Given the description of an element on the screen output the (x, y) to click on. 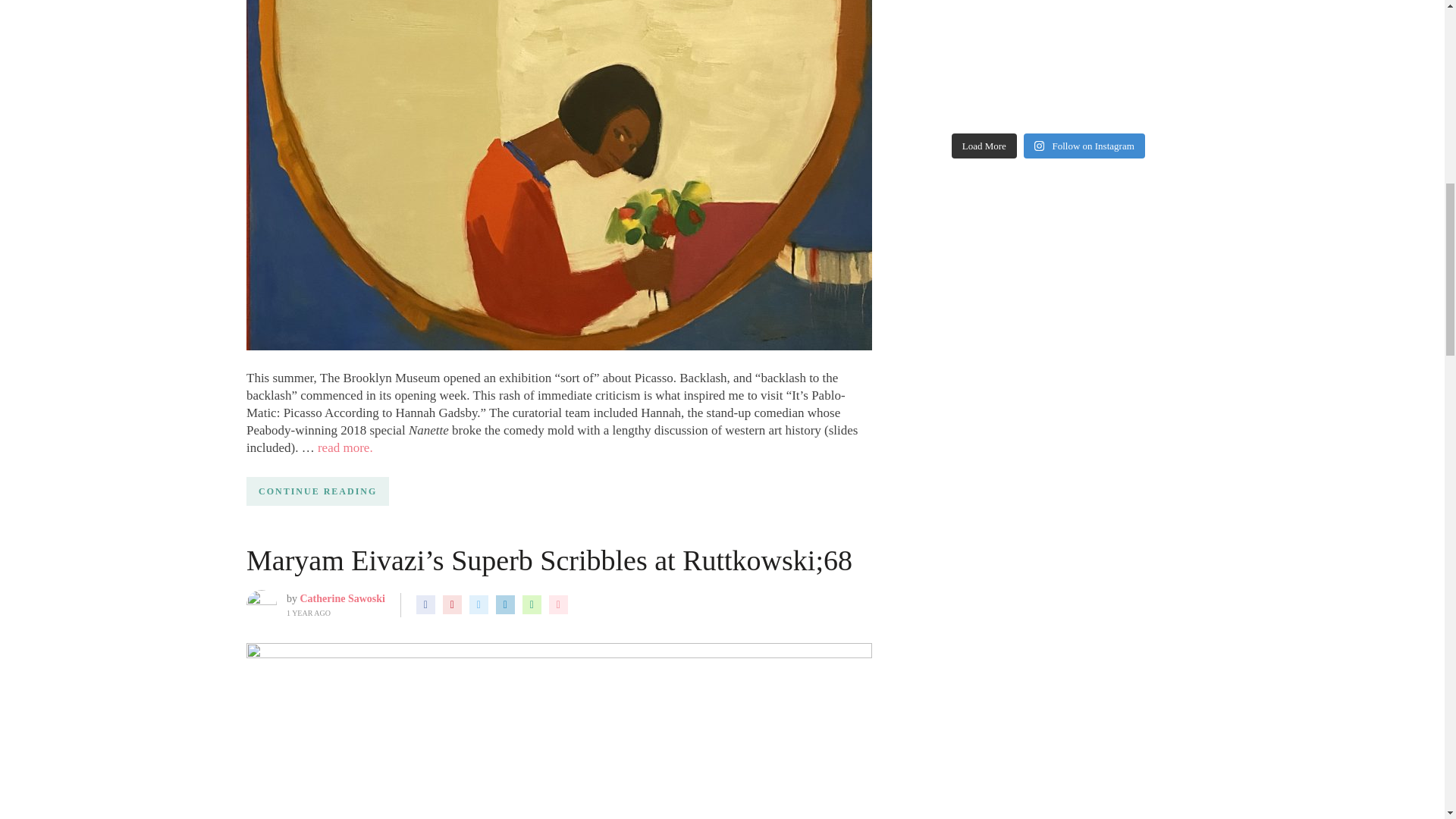
read more. (344, 447)
Posts by Catherine Sawoski (342, 598)
Catherine Sawoski (342, 598)
CONTINUE READING (317, 491)
